Given the description of an element on the screen output the (x, y) to click on. 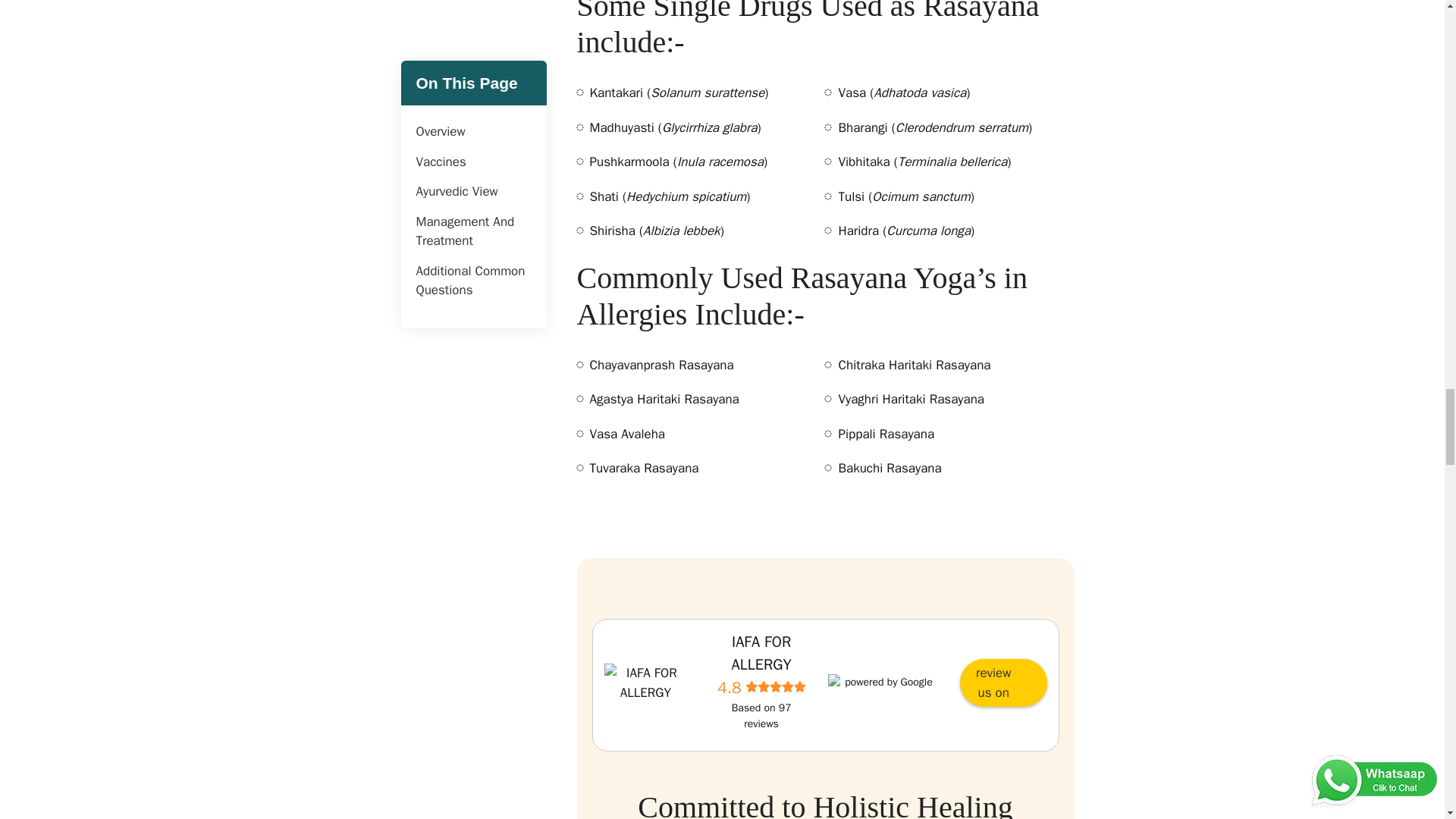
powered by Google (882, 680)
IAFA FOR ALLERGY (645, 682)
